Given the description of an element on the screen output the (x, y) to click on. 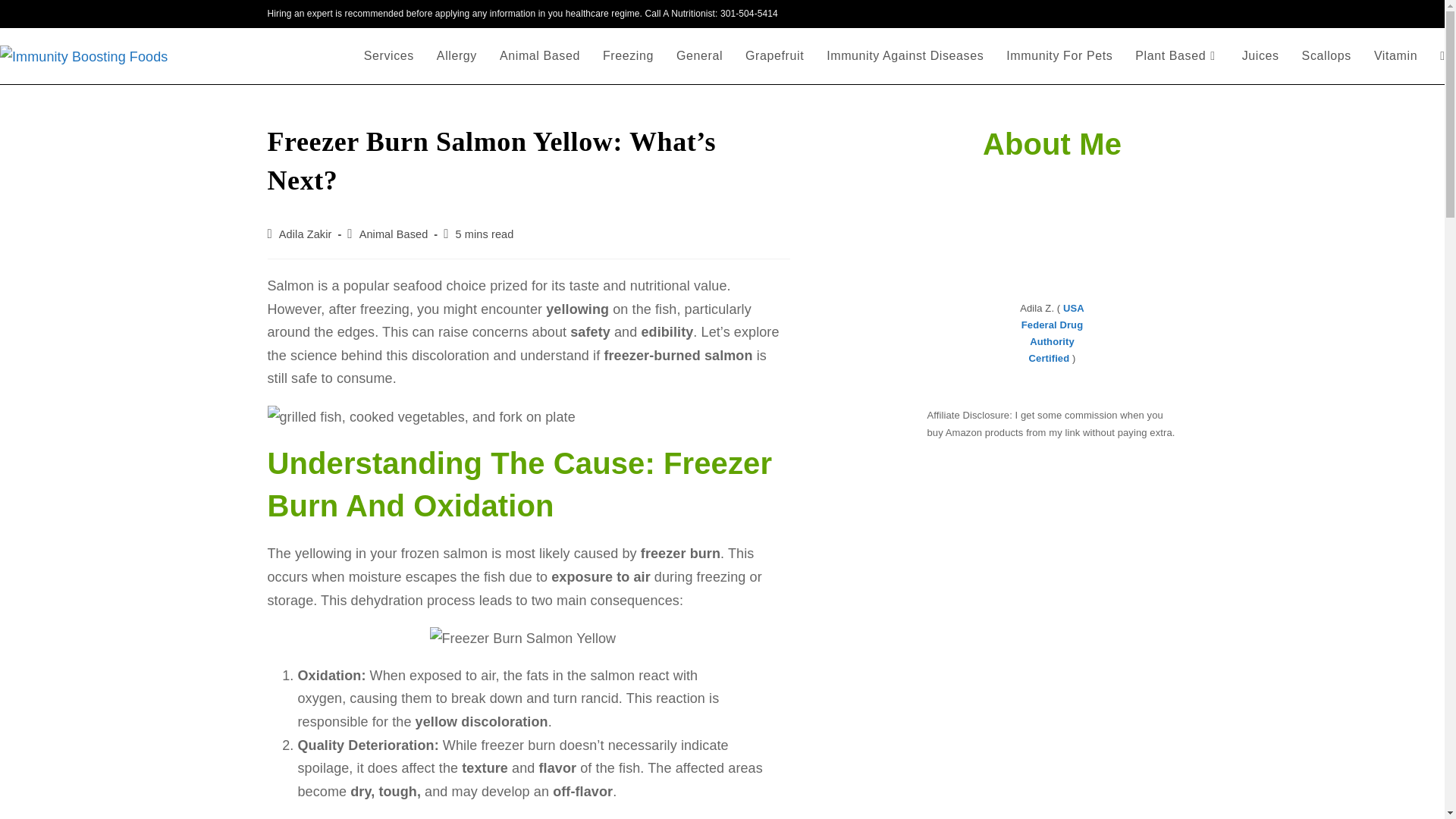
Scallops (1326, 55)
General (699, 55)
Services (388, 55)
Juices (1260, 55)
Immunity Against Diseases (904, 55)
Animal Based (539, 55)
Plant Based (1177, 55)
Posts by Adila Zakir (305, 234)
Vitamin (1395, 55)
Freezing (628, 55)
Grapefruit (774, 55)
Allergy (456, 55)
Immunity For Pets (1059, 55)
